Given the description of an element on the screen output the (x, y) to click on. 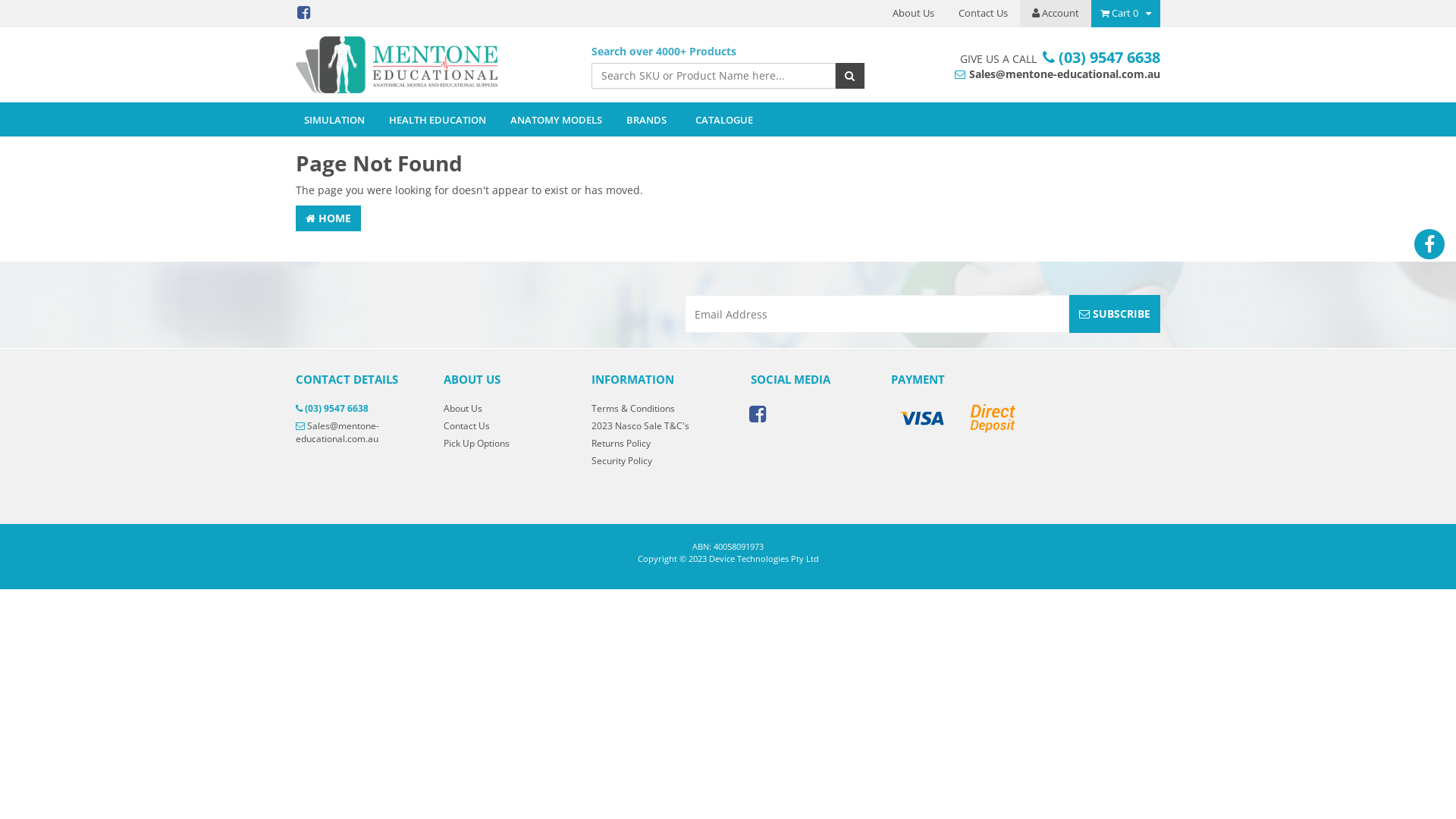
BRANDS Element type: text (646, 119)
SIMULATION Element type: text (334, 119)
(03) 9547 6638 Element type: text (357, 408)
SUBSCRIBE Element type: text (1114, 313)
Security Policy Element type: text (648, 460)
Sales@mentone-educational.com.au Element type: text (1057, 73)
2023 Nasco Sale T&C's Element type: text (648, 425)
Contact Us Element type: text (500, 425)
GIVE US A CALL(03) 9547 6638 Element type: text (1057, 57)
Device Technologies Pty Ltd Element type: hover (431, 65)
Sales@mentone-educational.com.au Element type: text (357, 432)
ANATOMY MODELS Element type: text (556, 119)
Terms & Conditions Element type: text (648, 408)
Contact Us Element type: text (982, 13)
HOME Element type: text (327, 218)
Search Element type: text (849, 75)
About Us Element type: text (913, 13)
Returns Policy Element type: text (648, 442)
Pick Up Options Element type: text (500, 442)
Account Element type: text (1055, 13)
About Us Element type: text (500, 408)
Cart 0 Element type: text (1125, 13)
CATALOGUE Element type: text (723, 119)
HEALTH EDUCATION Element type: text (437, 119)
